Given the description of an element on the screen output the (x, y) to click on. 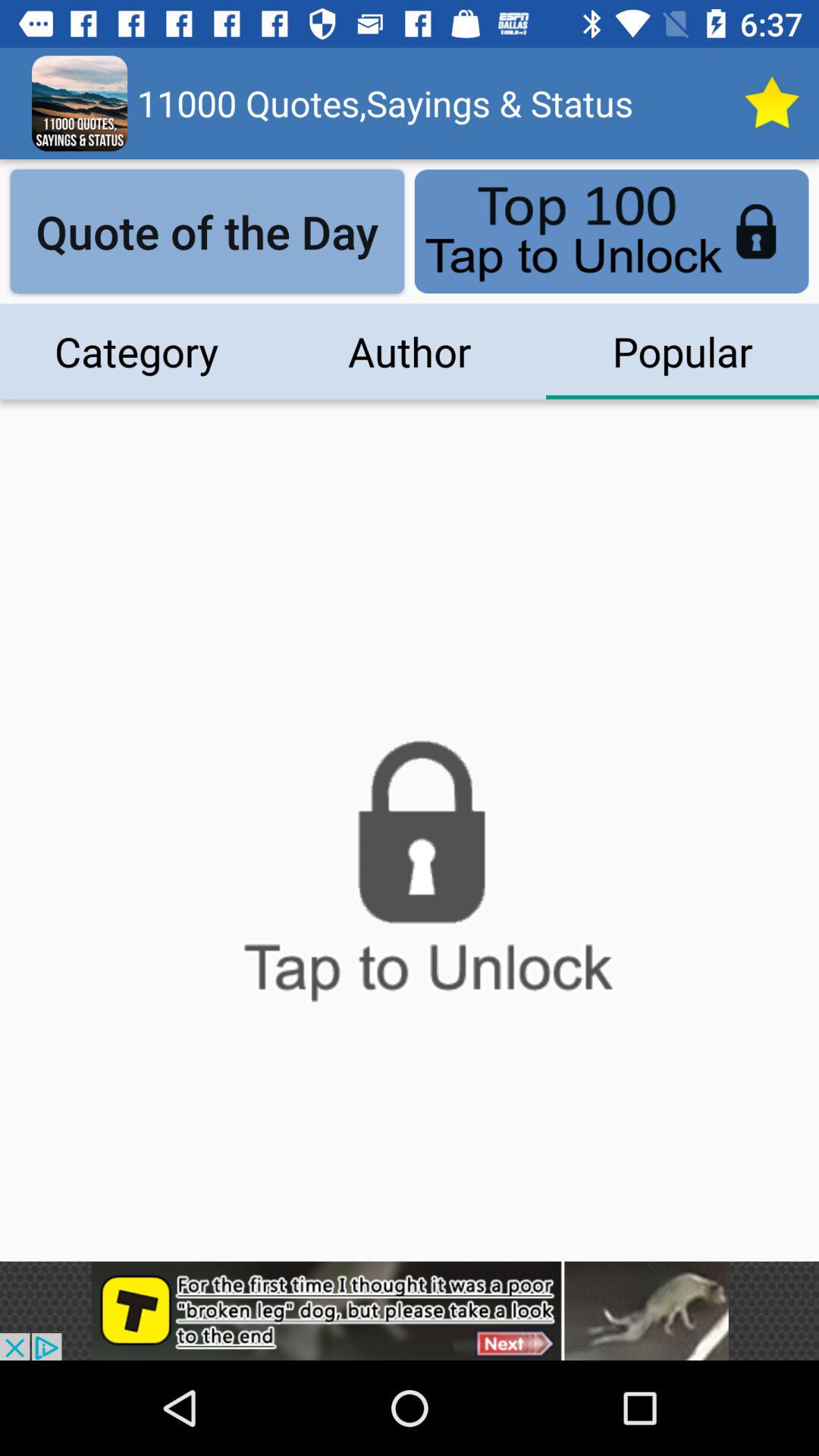
click on the advertisement (409, 1310)
